Given the description of an element on the screen output the (x, y) to click on. 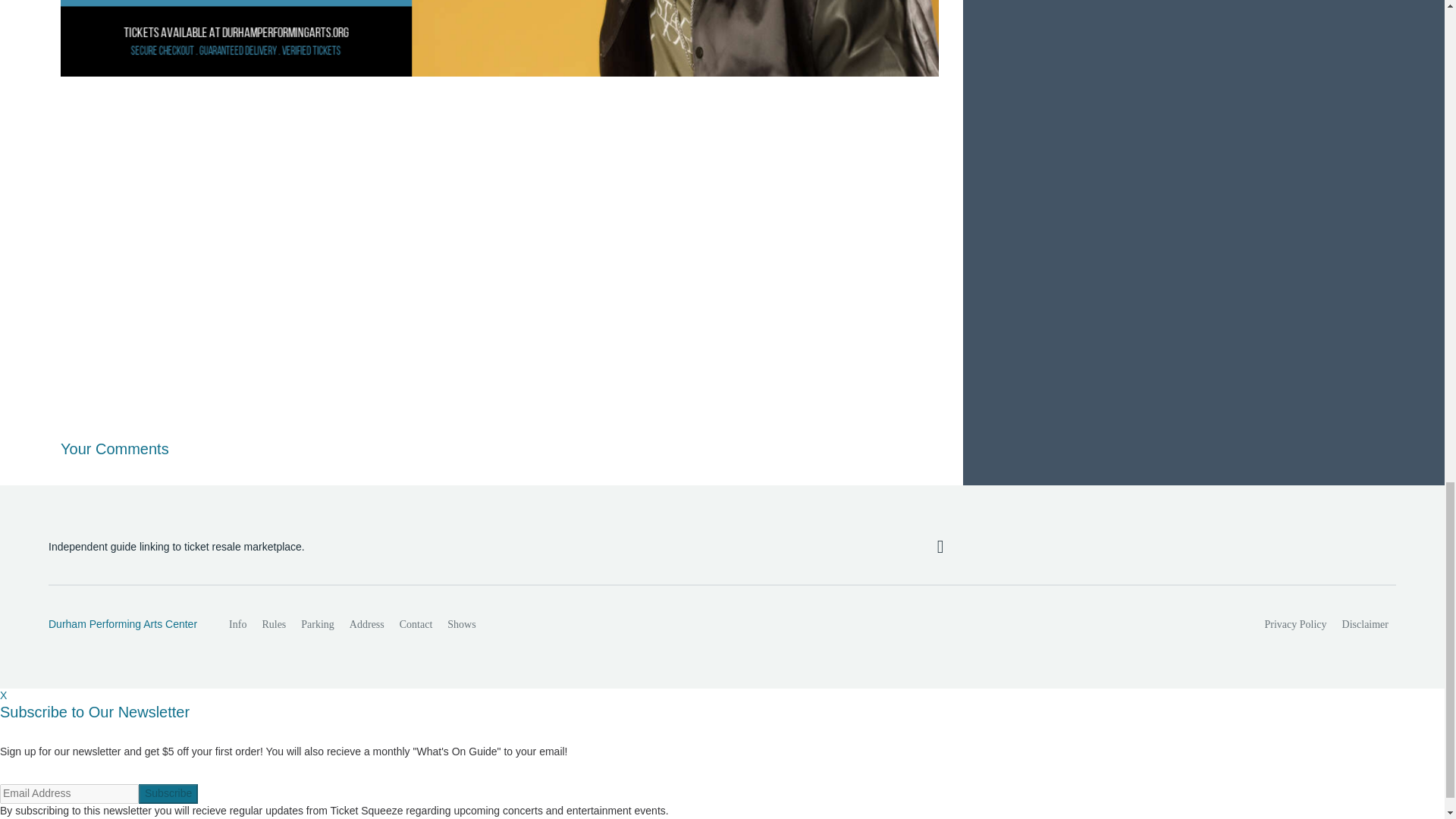
Contact (416, 624)
Info (237, 624)
Durham Performing Arts Center (122, 624)
Disclaimer (1365, 624)
Shows (461, 624)
Address (366, 624)
Parking (318, 624)
Rules (273, 624)
Subscribe (168, 793)
Privacy Policy (1296, 624)
